Given the description of an element on the screen output the (x, y) to click on. 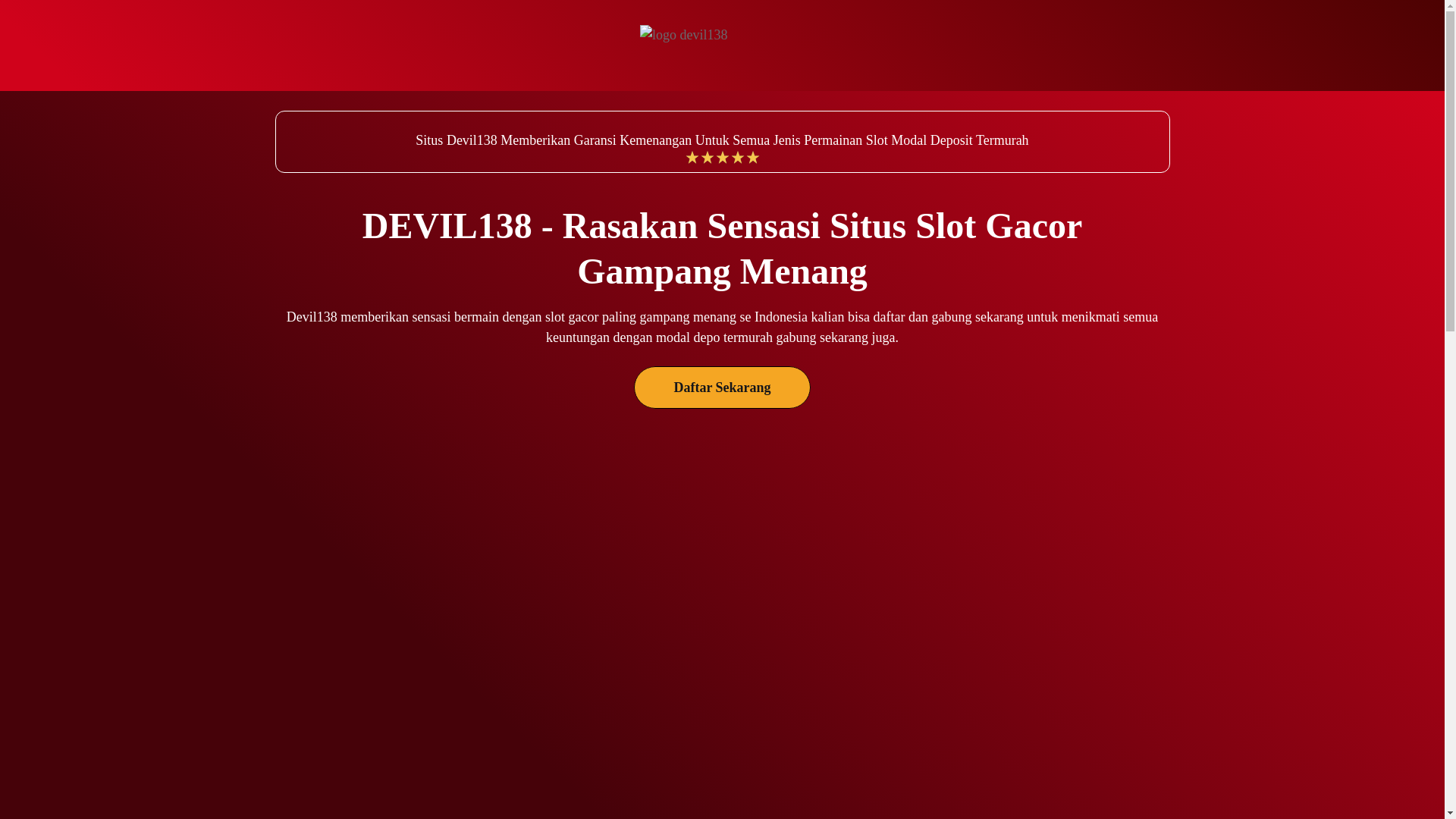
Daftar Sekarang (721, 386)
